Given the description of an element on the screen output the (x, y) to click on. 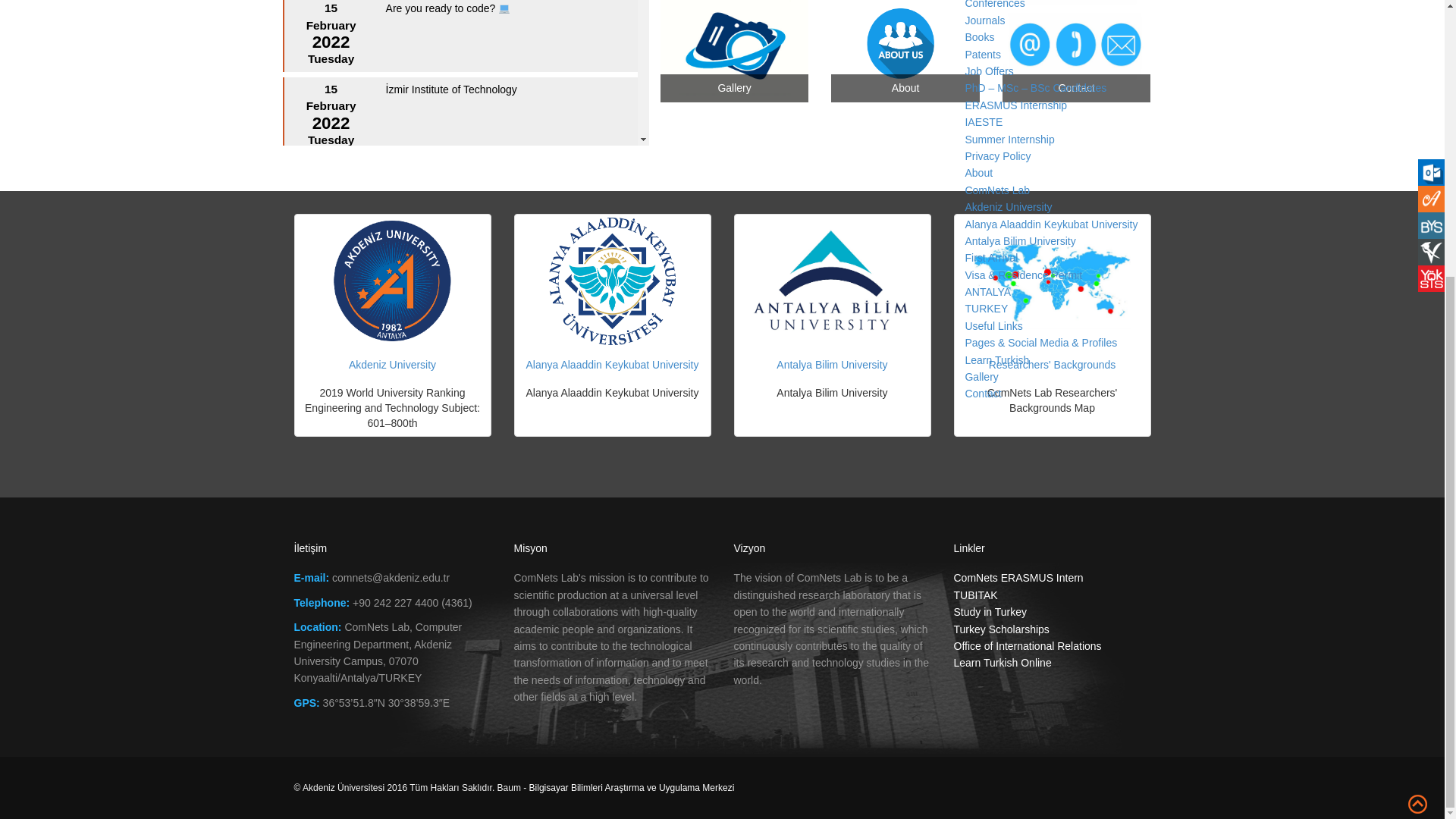
Books (978, 37)
ERASMUS Internship (1015, 105)
Job Offers (988, 70)
Journals (983, 19)
Home (977, 184)
Conferences (994, 3)
Antalya Bilim University (1019, 241)
Summer Internship (1008, 139)
About (977, 173)
IAESTE (983, 121)
ComNets Lab (996, 190)
Patents (981, 54)
Team (976, 21)
Akdeniz University (1007, 206)
Privacy Policy (996, 155)
